Given the description of an element on the screen output the (x, y) to click on. 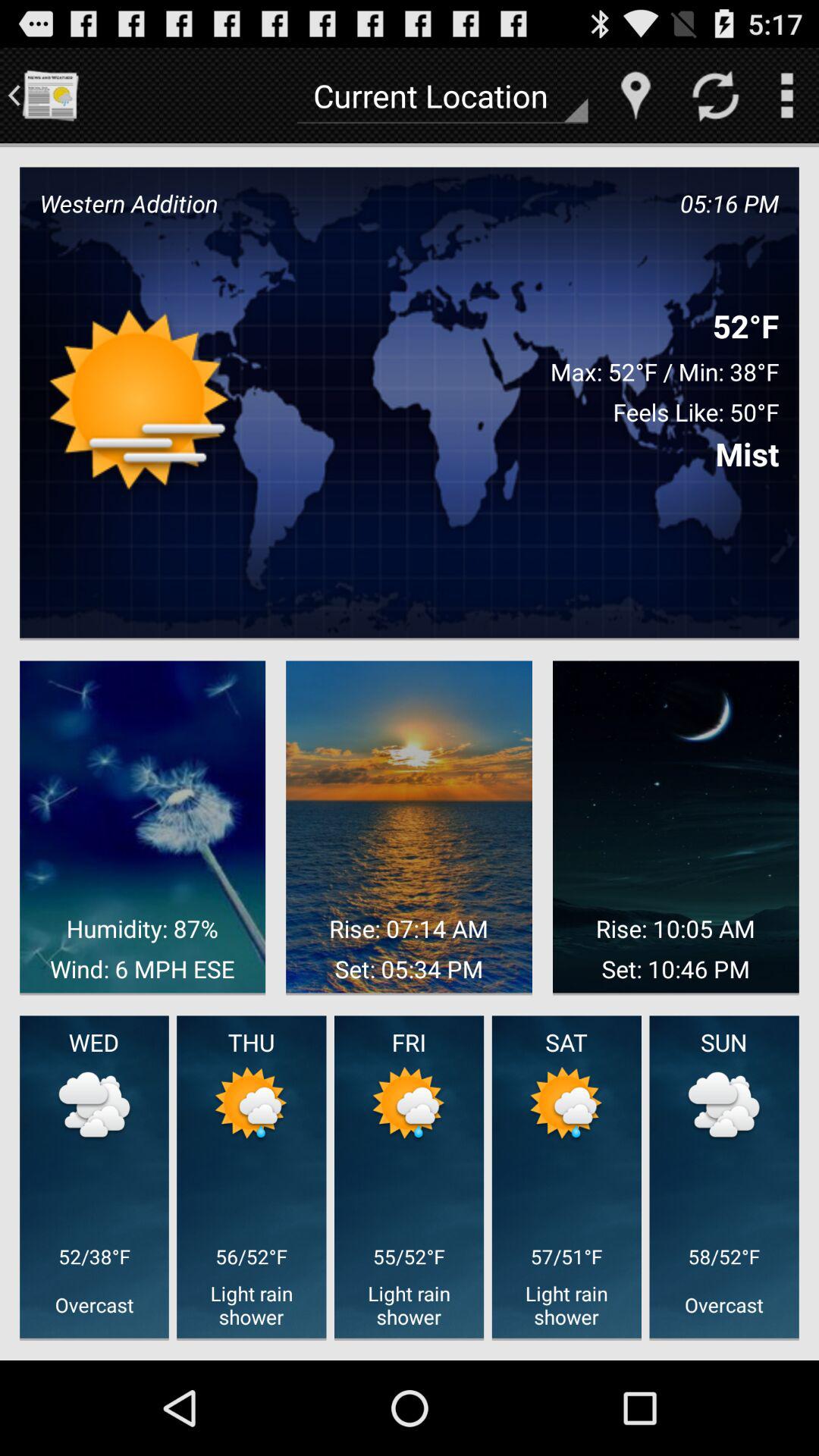
go to news (49, 95)
